Given the description of an element on the screen output the (x, y) to click on. 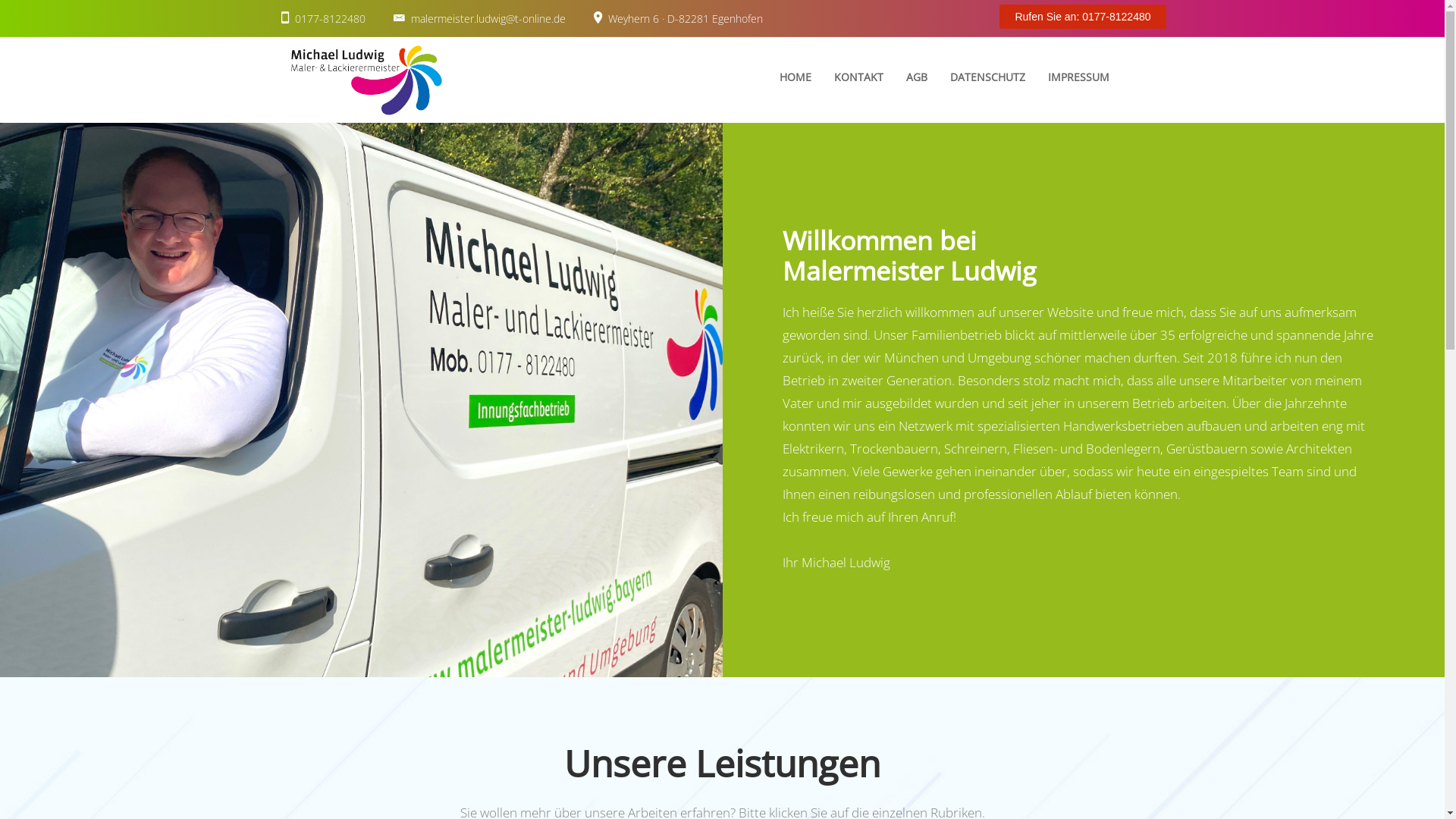
AGB Element type: text (916, 76)
KONTAKT Element type: text (858, 76)
HOME Element type: text (794, 76)
IMPRESSUM Element type: text (1077, 76)
DATENSCHUTZ Element type: text (987, 76)
Rufen Sie an: 0177-8122480 Element type: text (1082, 16)
Home Element type: hover (366, 79)
